Given the description of an element on the screen output the (x, y) to click on. 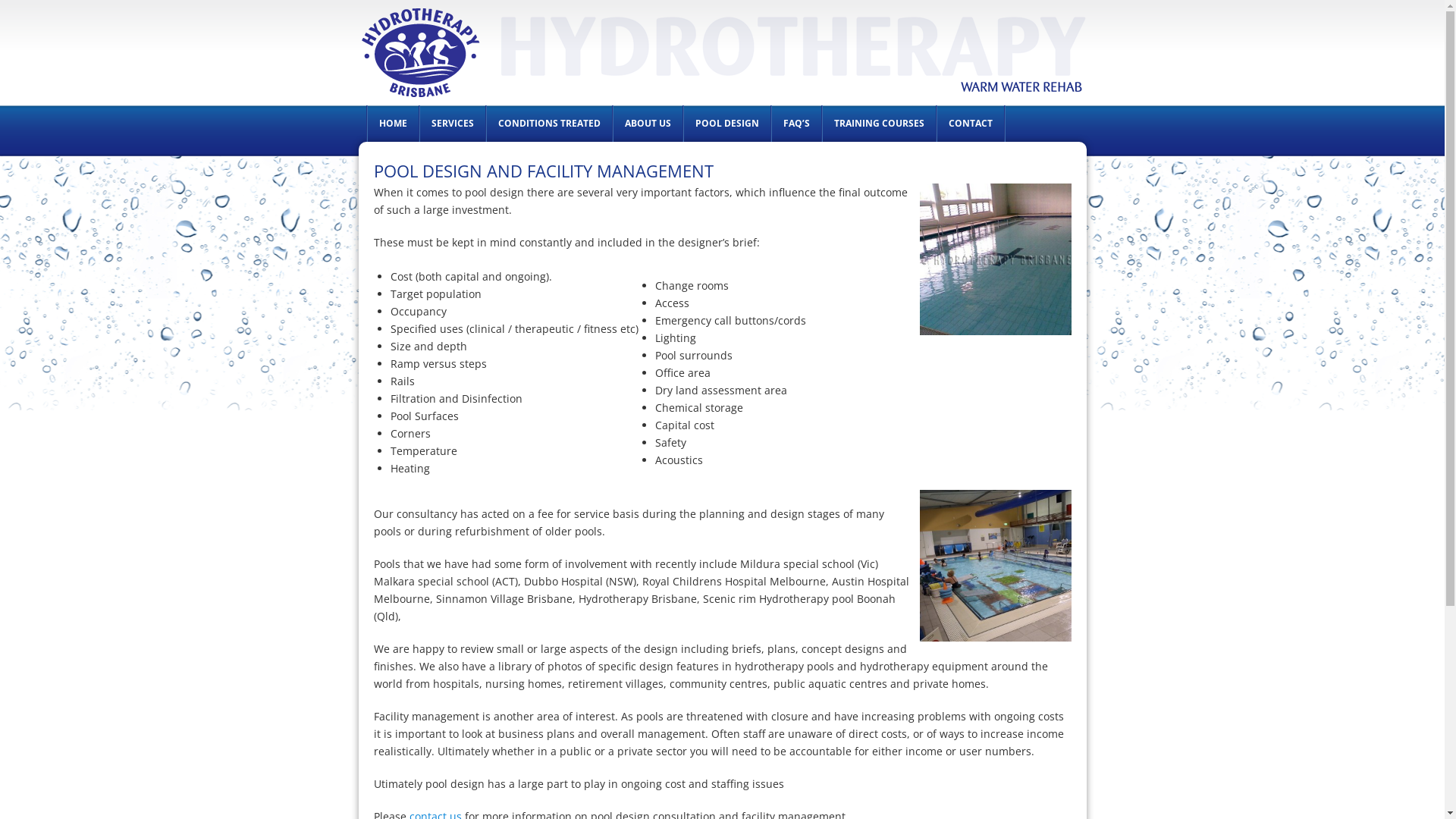
HOME Element type: text (392, 123)
TRAINING COURSES Element type: text (878, 123)
Aspley-shallow-pool-WM Element type: hover (994, 259)
HYDROTHERAPY CONSULTING & TRAINING Element type: text (478, 55)
POOL DESIGN Element type: text (727, 123)
Sinnamon Element type: hover (994, 565)
CONDITIONS TREATED Element type: text (548, 123)
CONTACT Element type: text (970, 123)
SERVICES Element type: text (452, 123)
ABOUT US Element type: text (646, 123)
